Given the description of an element on the screen output the (x, y) to click on. 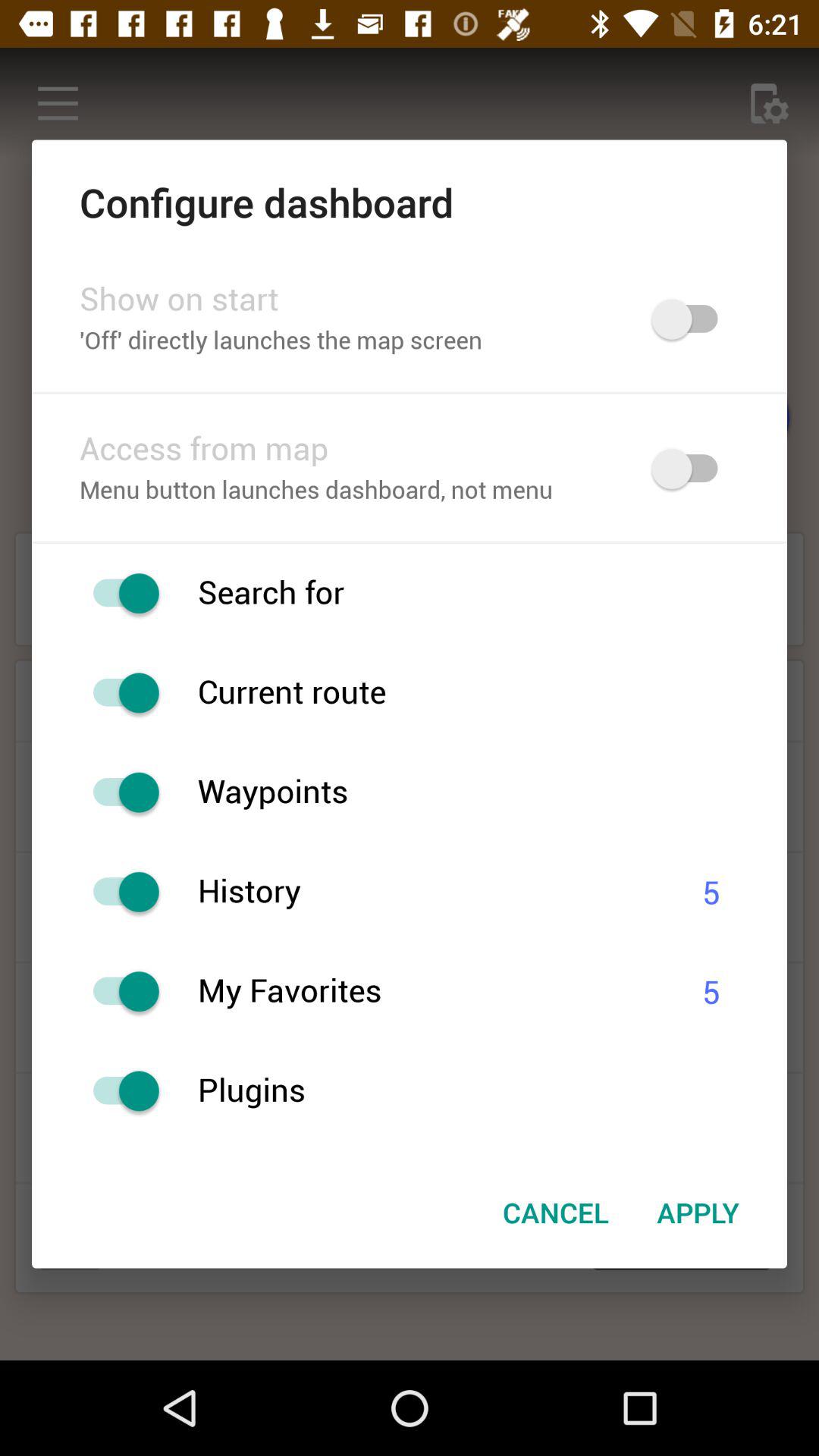
toggle dashboard map access (691, 468)
